Given the description of an element on the screen output the (x, y) to click on. 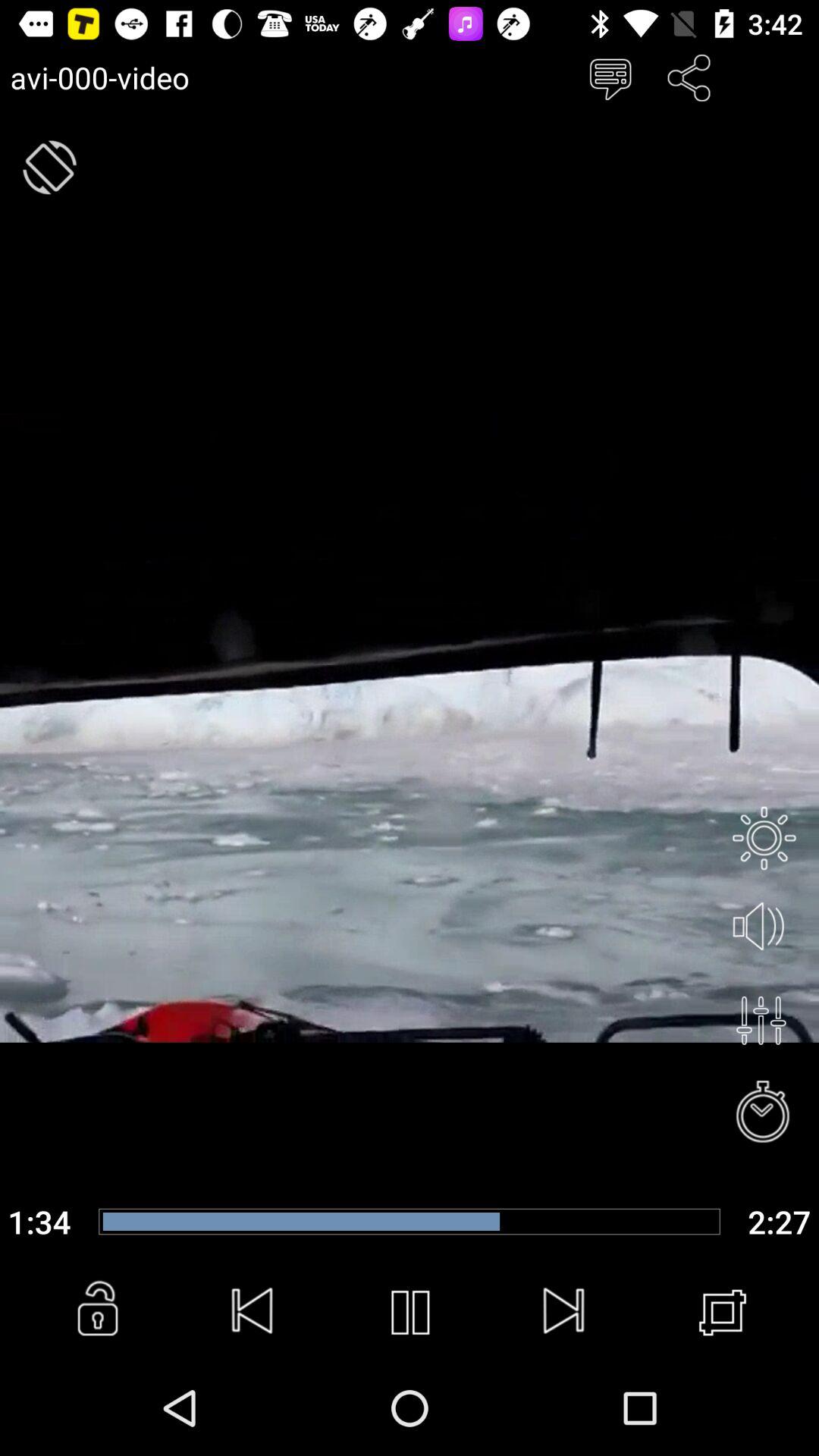
chat selection (609, 77)
